Given the description of an element on the screen output the (x, y) to click on. 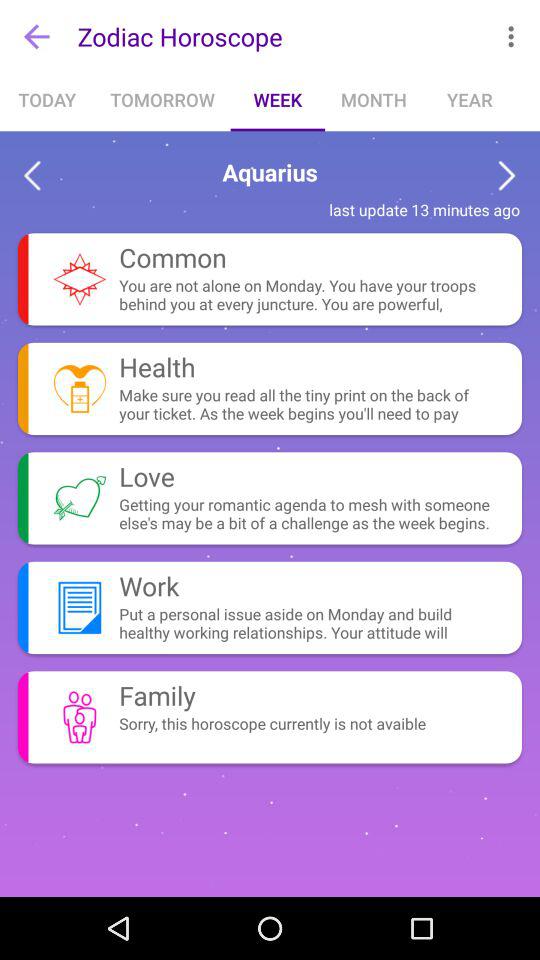
next sign (506, 175)
